Given the description of an element on the screen output the (x, y) to click on. 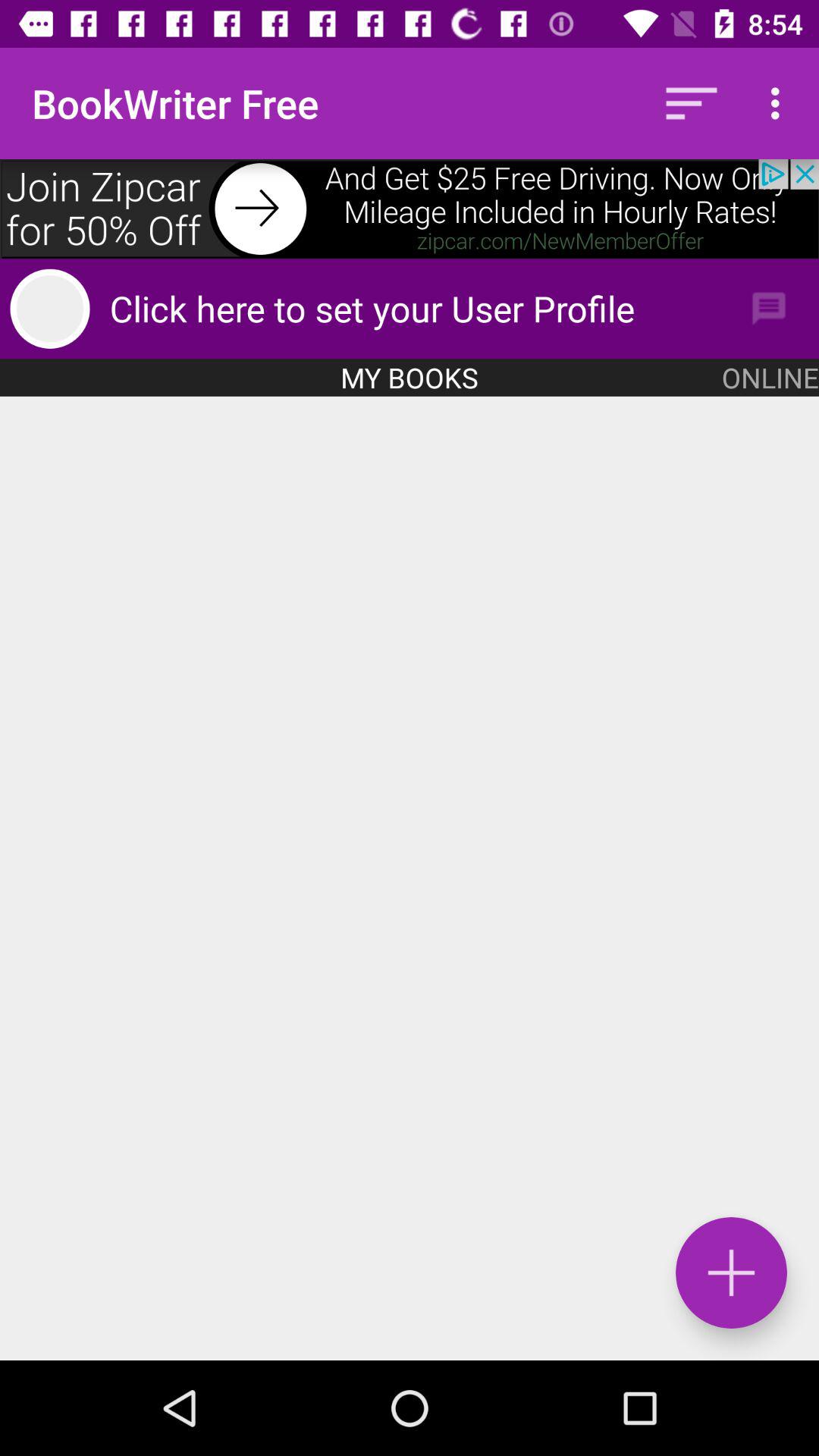
banner advertisements (409, 208)
